Given the description of an element on the screen output the (x, y) to click on. 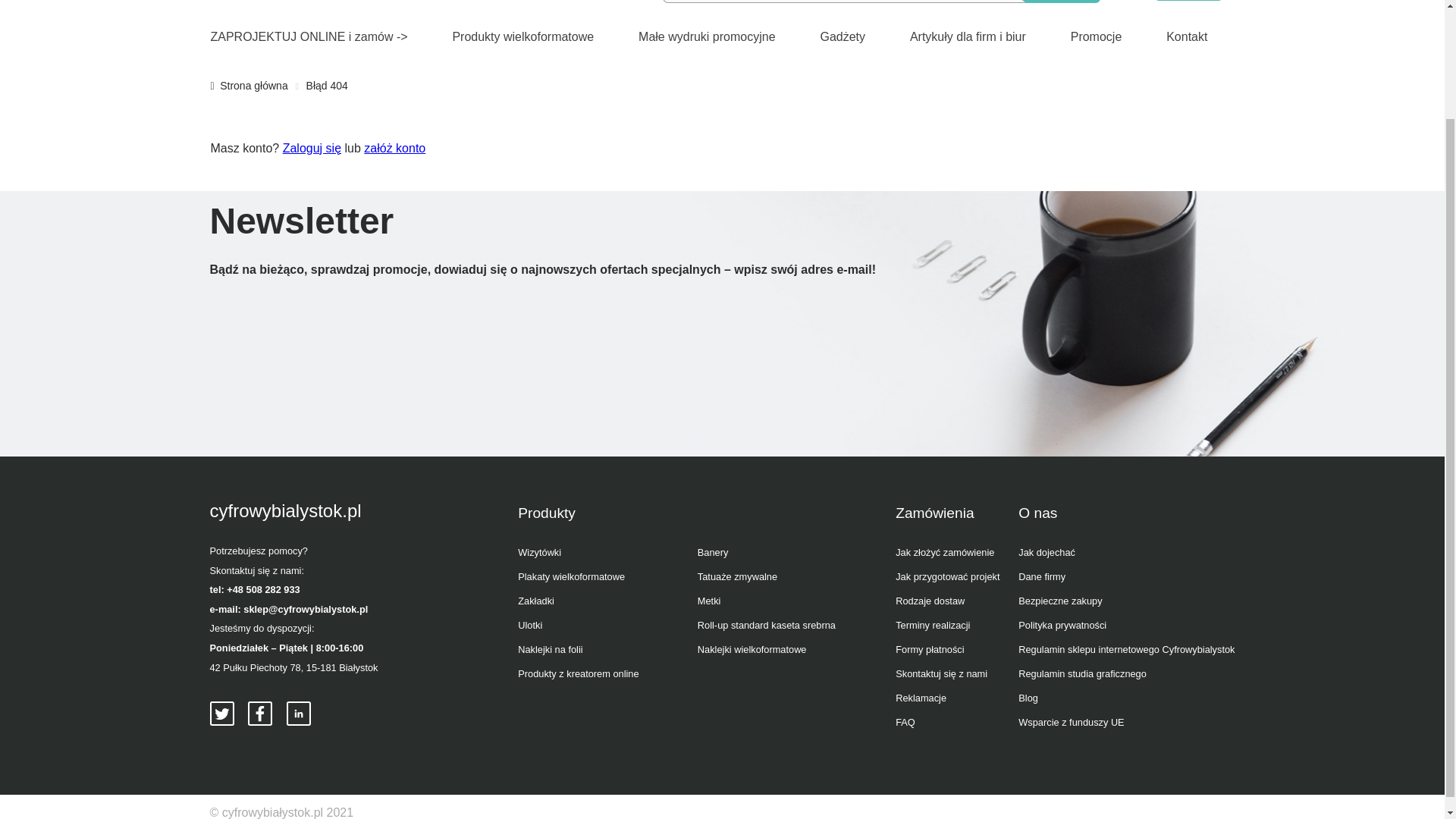
Promocje (1096, 36)
Szukaj (1059, 1)
Produkty wielkoformatowe (522, 36)
Kontakt (1186, 36)
